Given the description of an element on the screen output the (x, y) to click on. 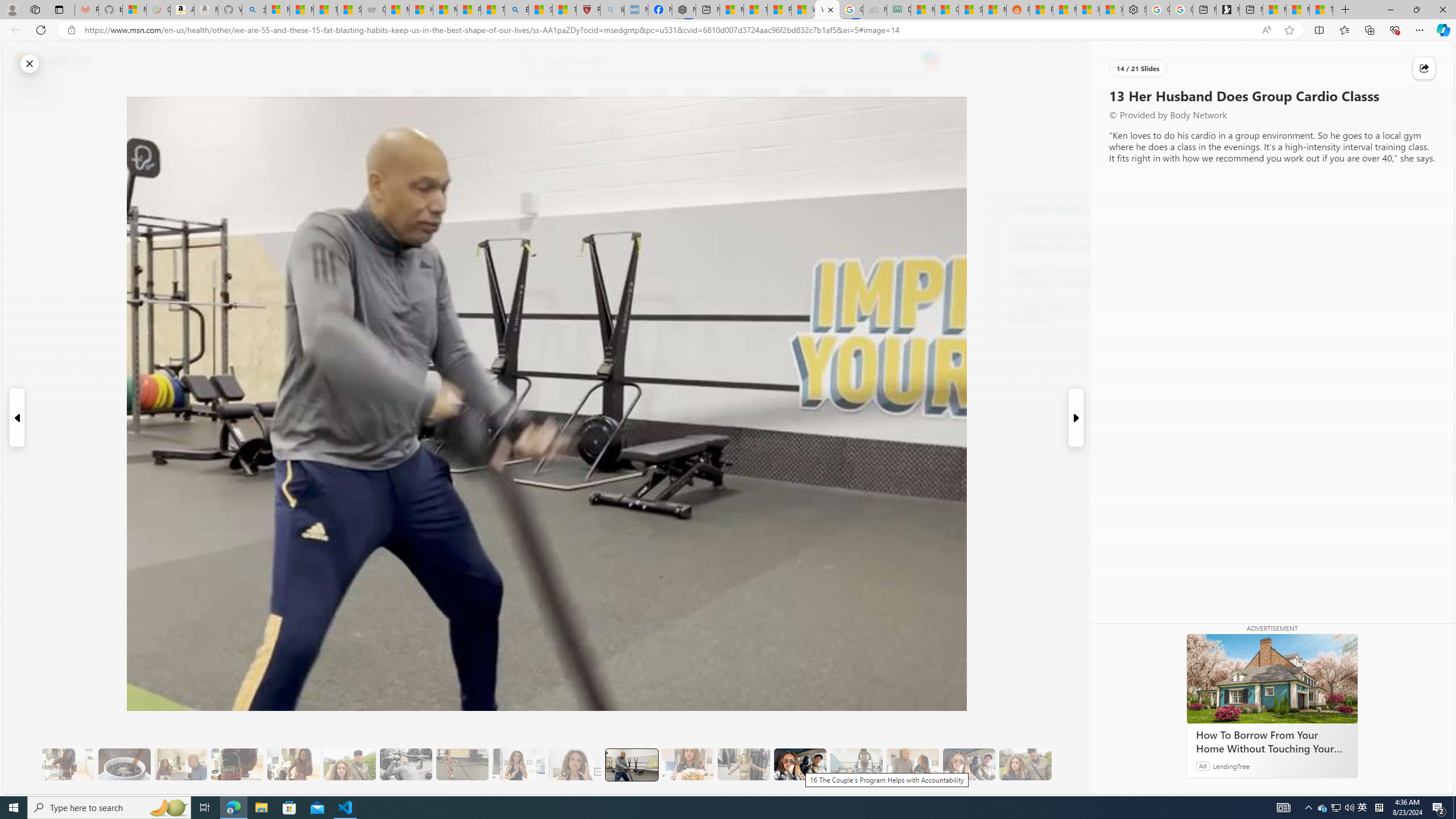
Science - MSN (540, 9)
How I Got Rid of Microsoft Edge's Unnecessary Features (421, 9)
Science (558, 92)
Microsoft Start Gaming (1227, 9)
News (419, 92)
12 Proven Ways To Increase Your Metabolism (1071, 313)
Notifications (1405, 60)
11 They Eat More Protein for Breakfast (518, 764)
Personalize (1132, 92)
DITOGAMES AG Imprint (898, 9)
Local (517, 92)
Politics (697, 92)
Skip to content (49, 59)
